Given the description of an element on the screen output the (x, y) to click on. 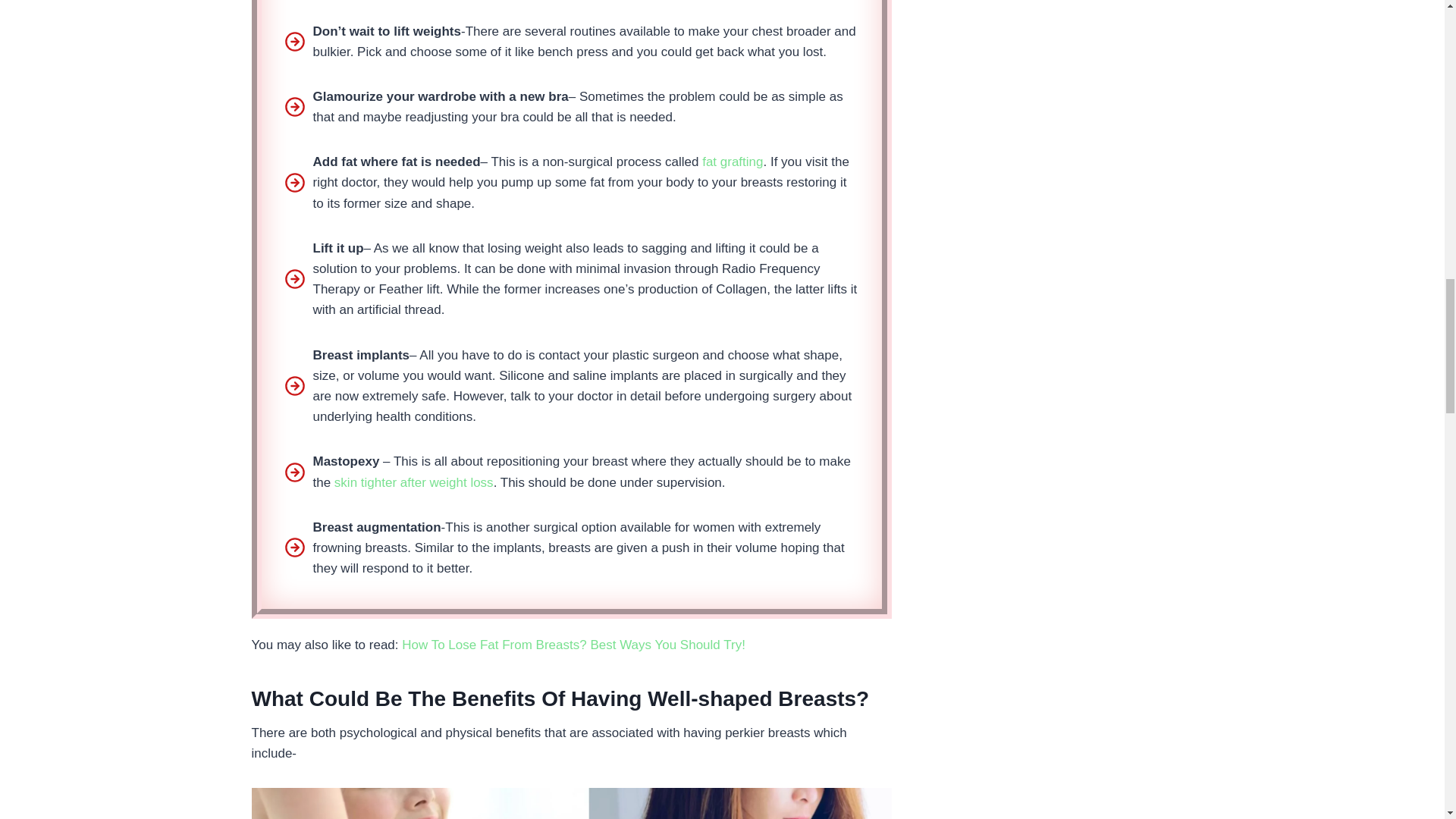
How To Lose Fat From Breasts? Best Ways You Should Try! (573, 644)
fat grafting (731, 161)
skin tighter after weight loss (413, 481)
